Given the description of an element on the screen output the (x, y) to click on. 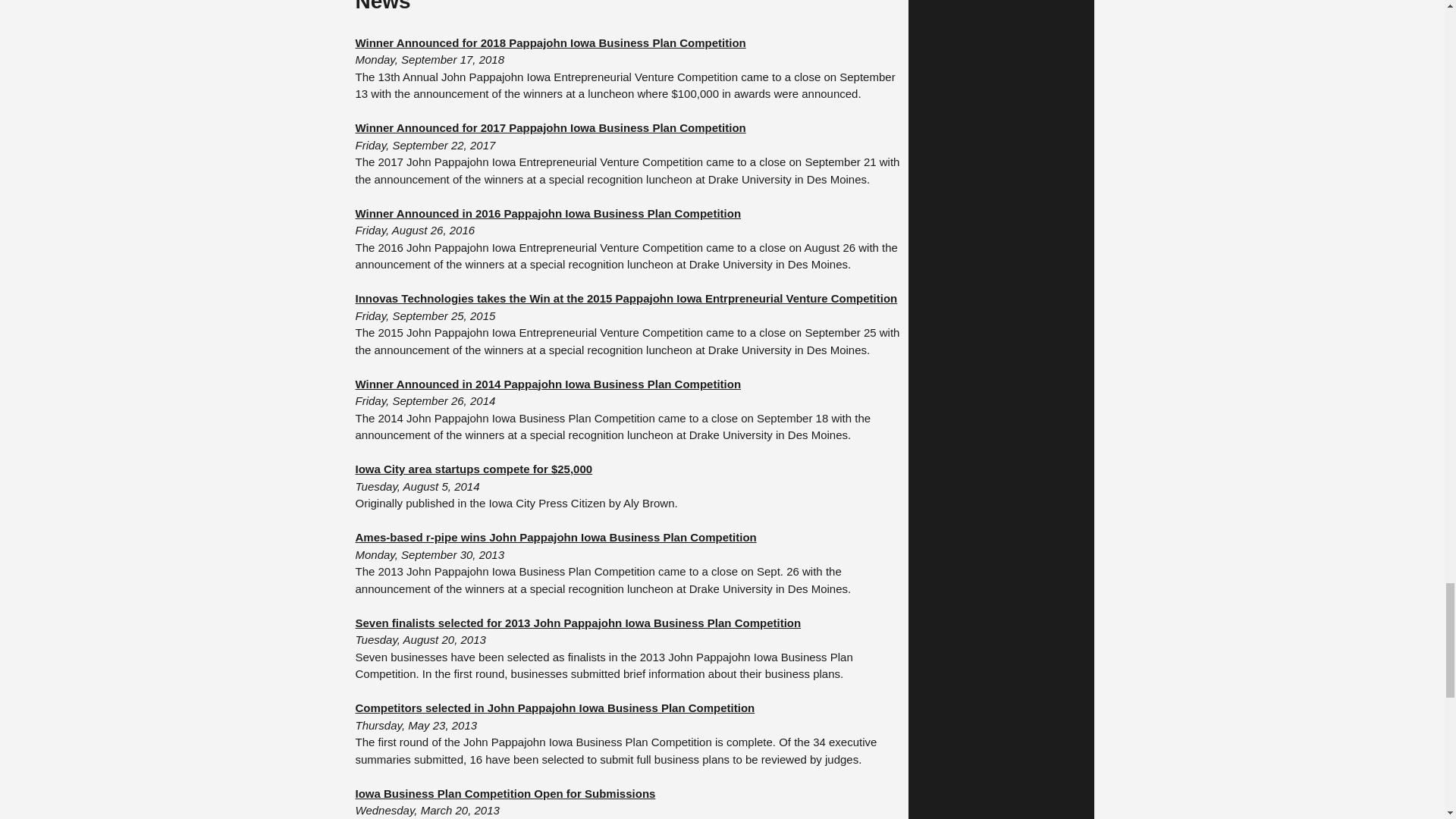
Iowa Business Plan Competition Open for Submissions (505, 793)
